Given the description of an element on the screen output the (x, y) to click on. 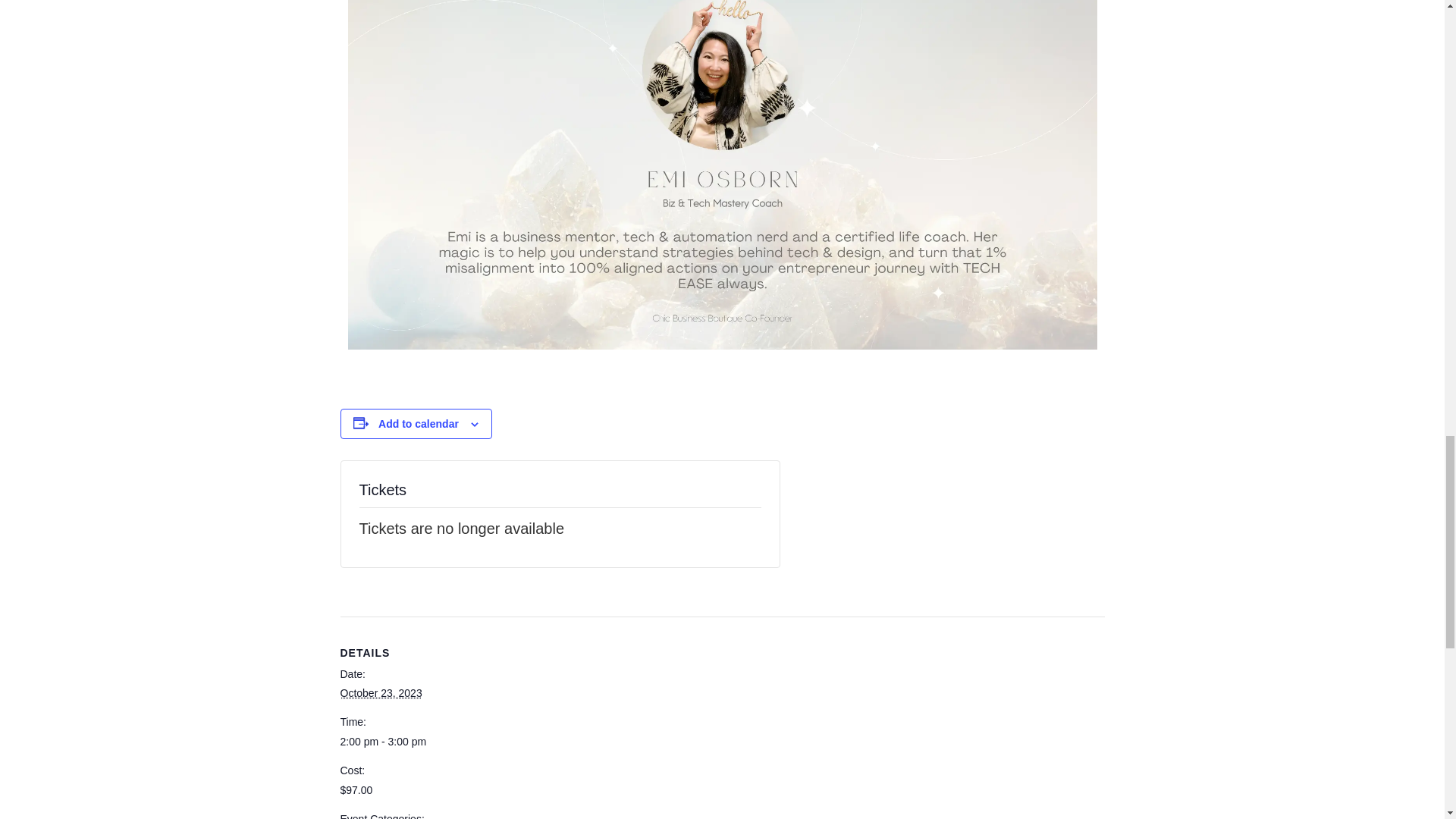
2023-10-23 (403, 741)
Add to calendar (418, 423)
2023-10-23 (380, 693)
